Given the description of an element on the screen output the (x, y) to click on. 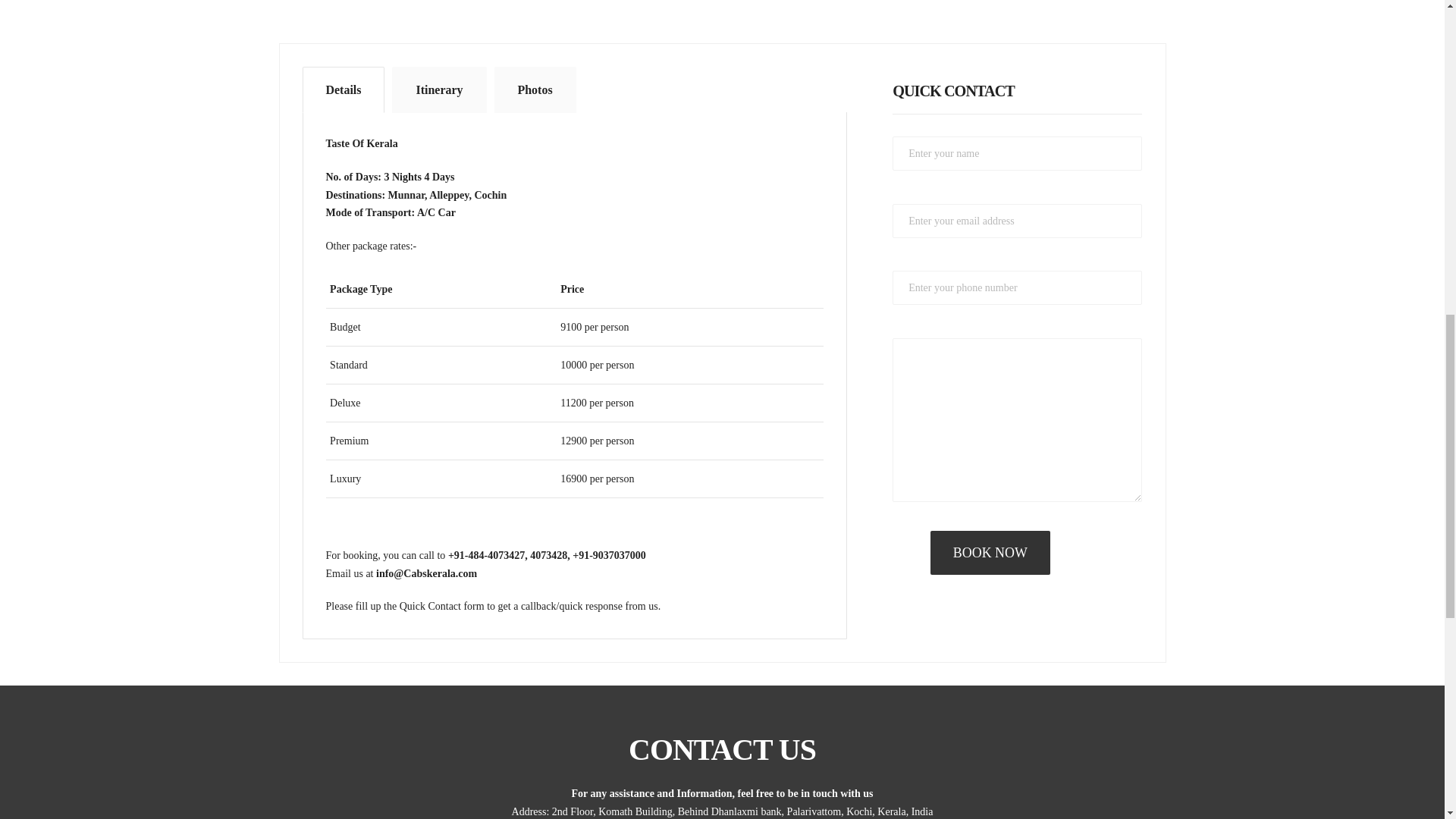
Book Now (989, 552)
Book Now (989, 552)
Photos (535, 89)
Itinerary (438, 89)
Details (342, 89)
